Given the description of an element on the screen output the (x, y) to click on. 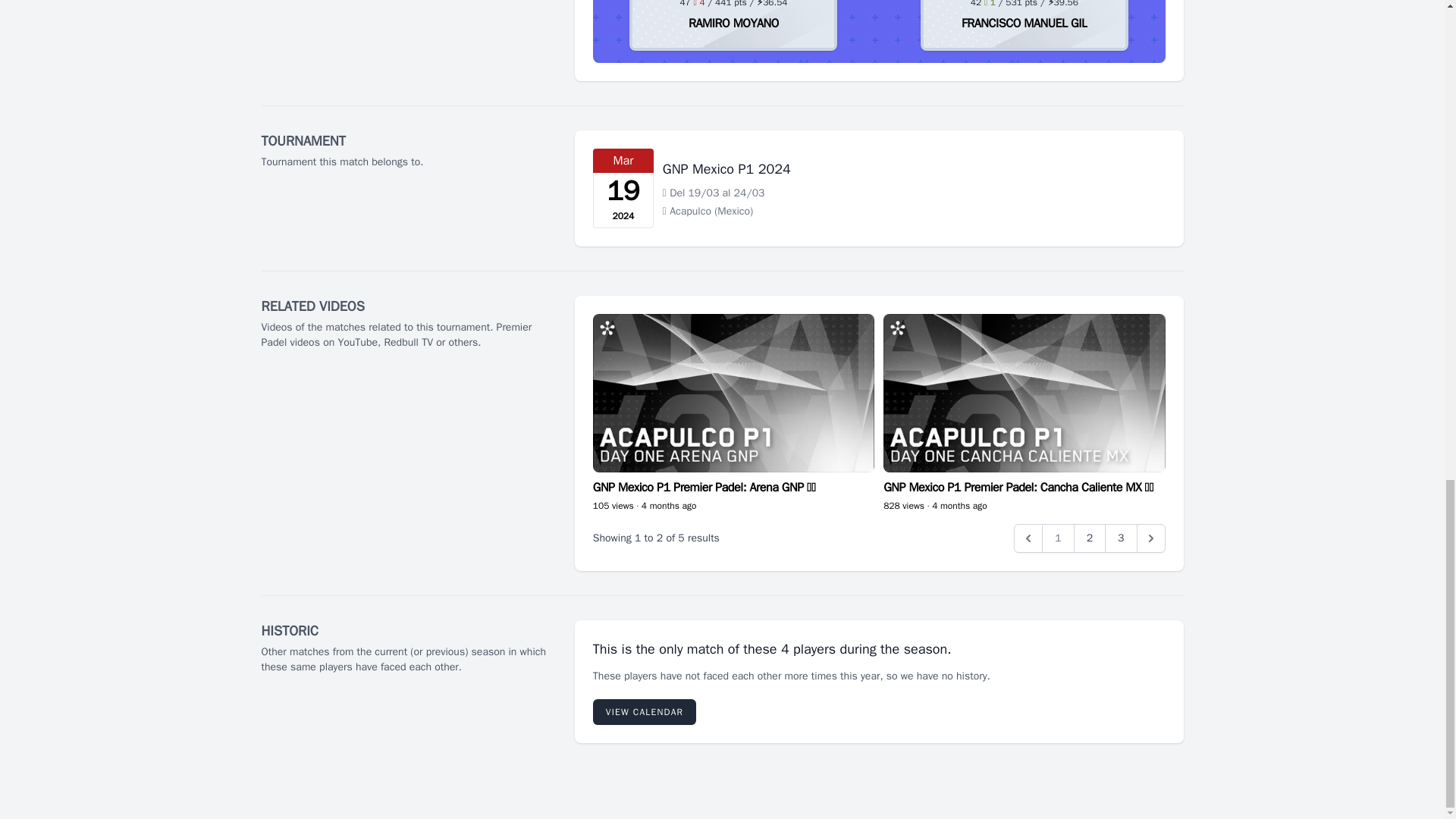
Ramiro Moyano (733, 23)
FRANCISCO MANUEL GIL (1023, 23)
RAMIRO MOYANO (733, 23)
GNP Mexico P1 2024 (726, 168)
Francisco Manuel Gil (1023, 23)
